Given the description of an element on the screen output the (x, y) to click on. 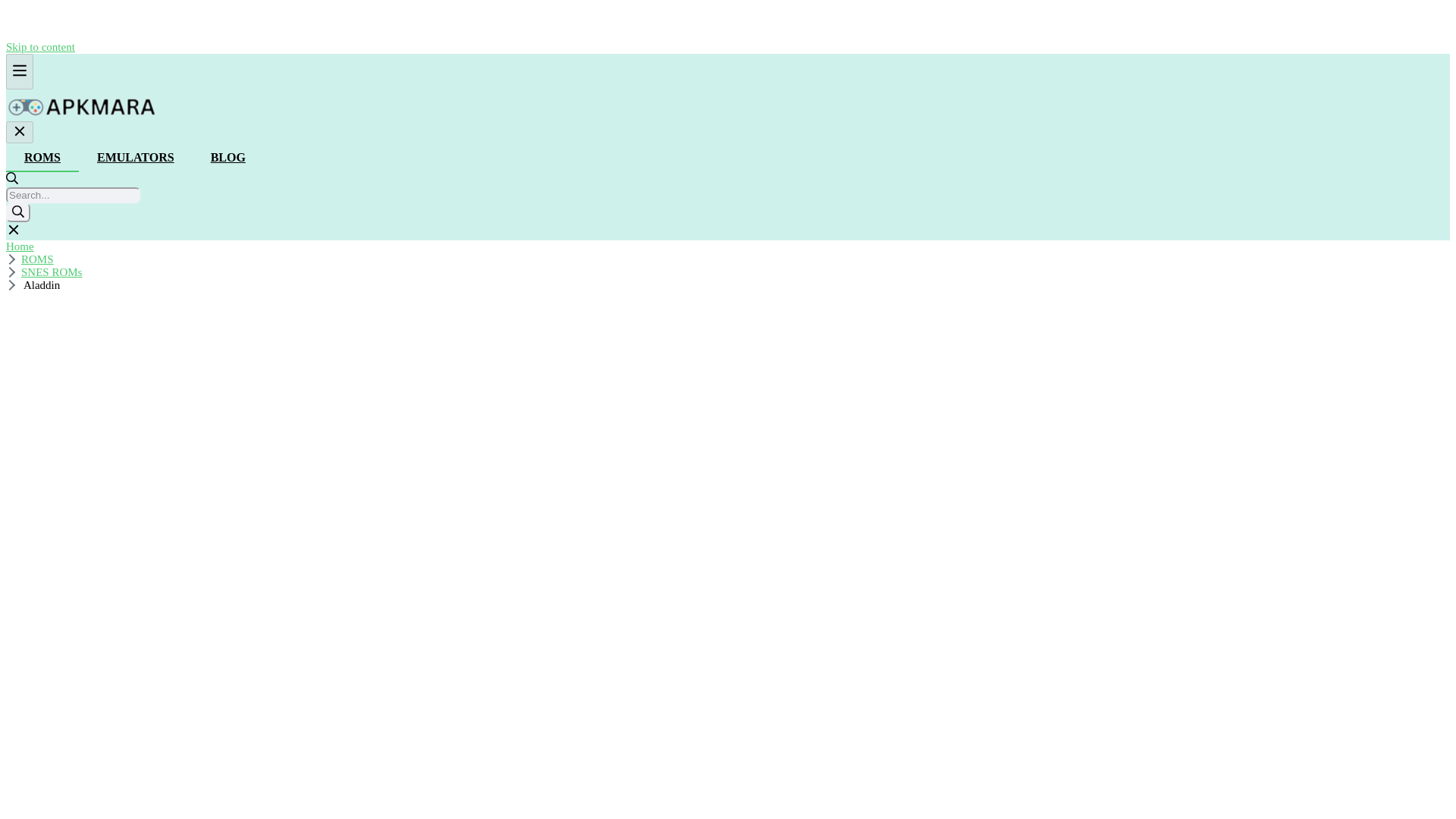
APKMARA.COM (81, 105)
ROMS (41, 157)
Skip to content (40, 46)
BLOG (227, 157)
EMULATORS (135, 157)
Home (19, 246)
